Given the description of an element on the screen output the (x, y) to click on. 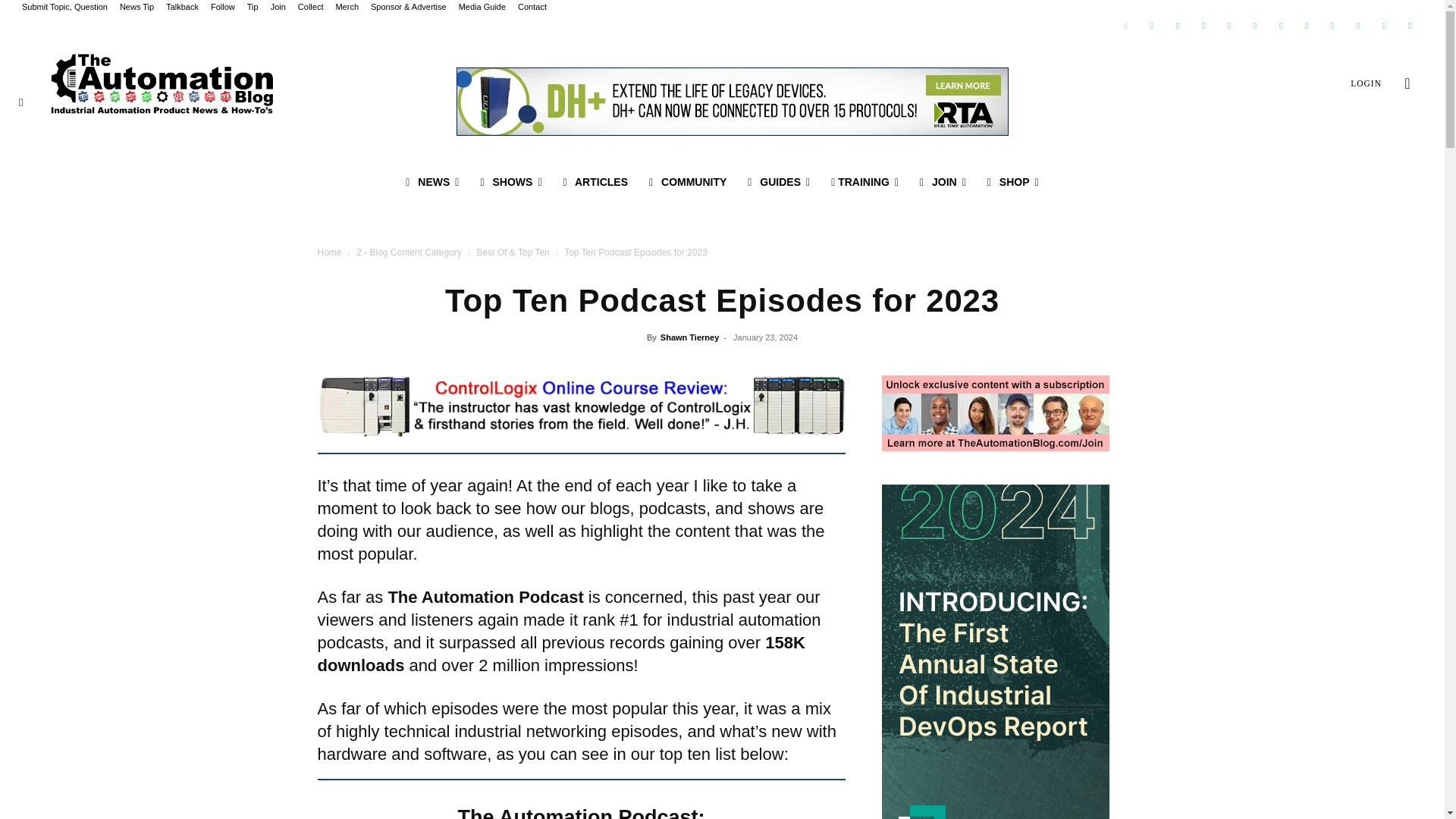
Linkedin (1125, 25)
Facebook (1177, 25)
Twitter (1151, 25)
